Given the description of an element on the screen output the (x, y) to click on. 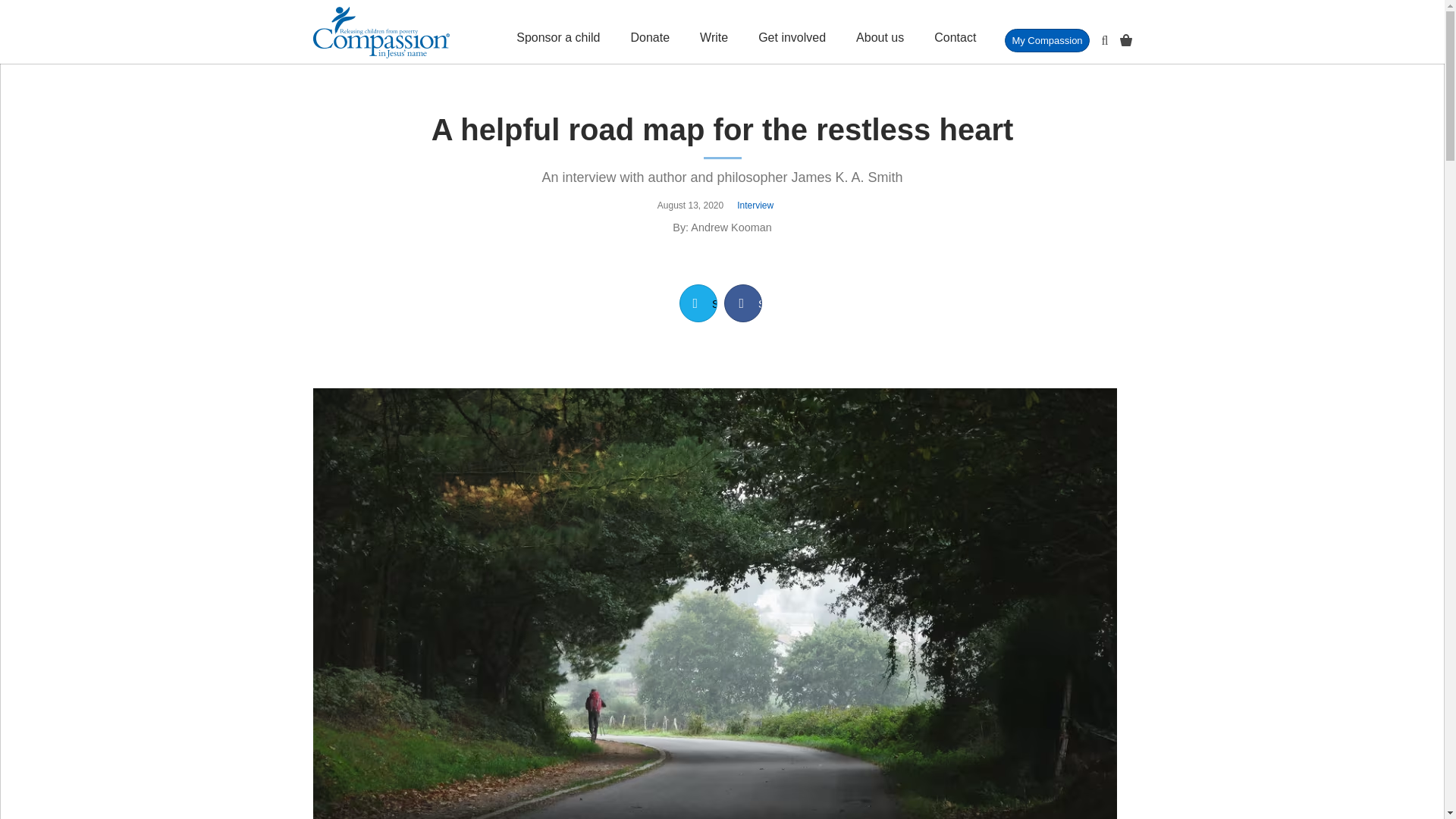
Sponsor a child (557, 31)
Compassion Canada (380, 32)
My Compassion (1046, 40)
Get involved (791, 31)
